Given the description of an element on the screen output the (x, y) to click on. 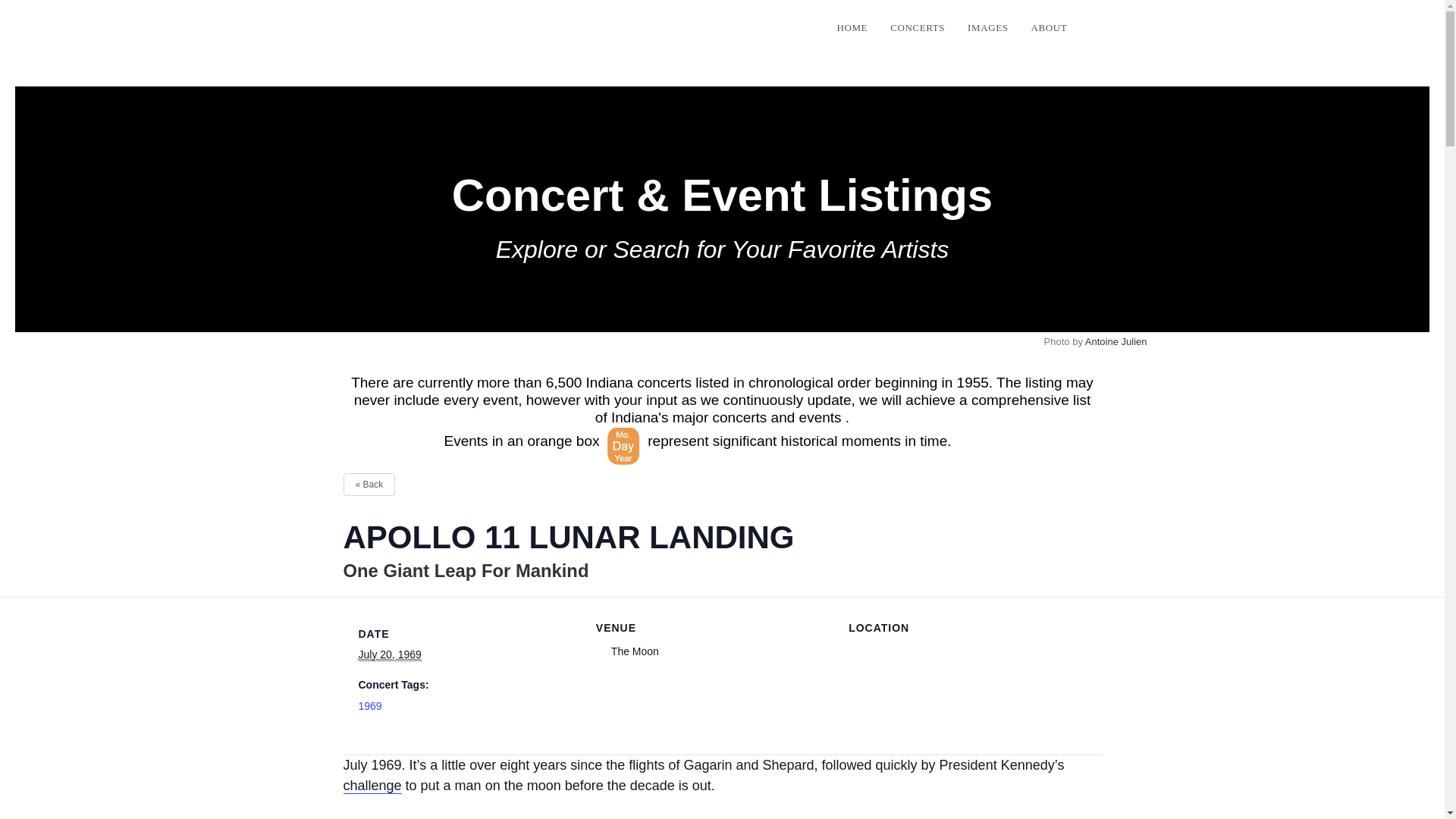
ABOUT (1048, 28)
HOME (852, 28)
1969 (369, 705)
Antoine Julien (1115, 341)
Indiana Rock History (344, 26)
CONCERTS (917, 28)
1969-07-20 (389, 654)
CONNECT (1133, 28)
IMAGES (987, 28)
challenge (371, 785)
